Given the description of an element on the screen output the (x, y) to click on. 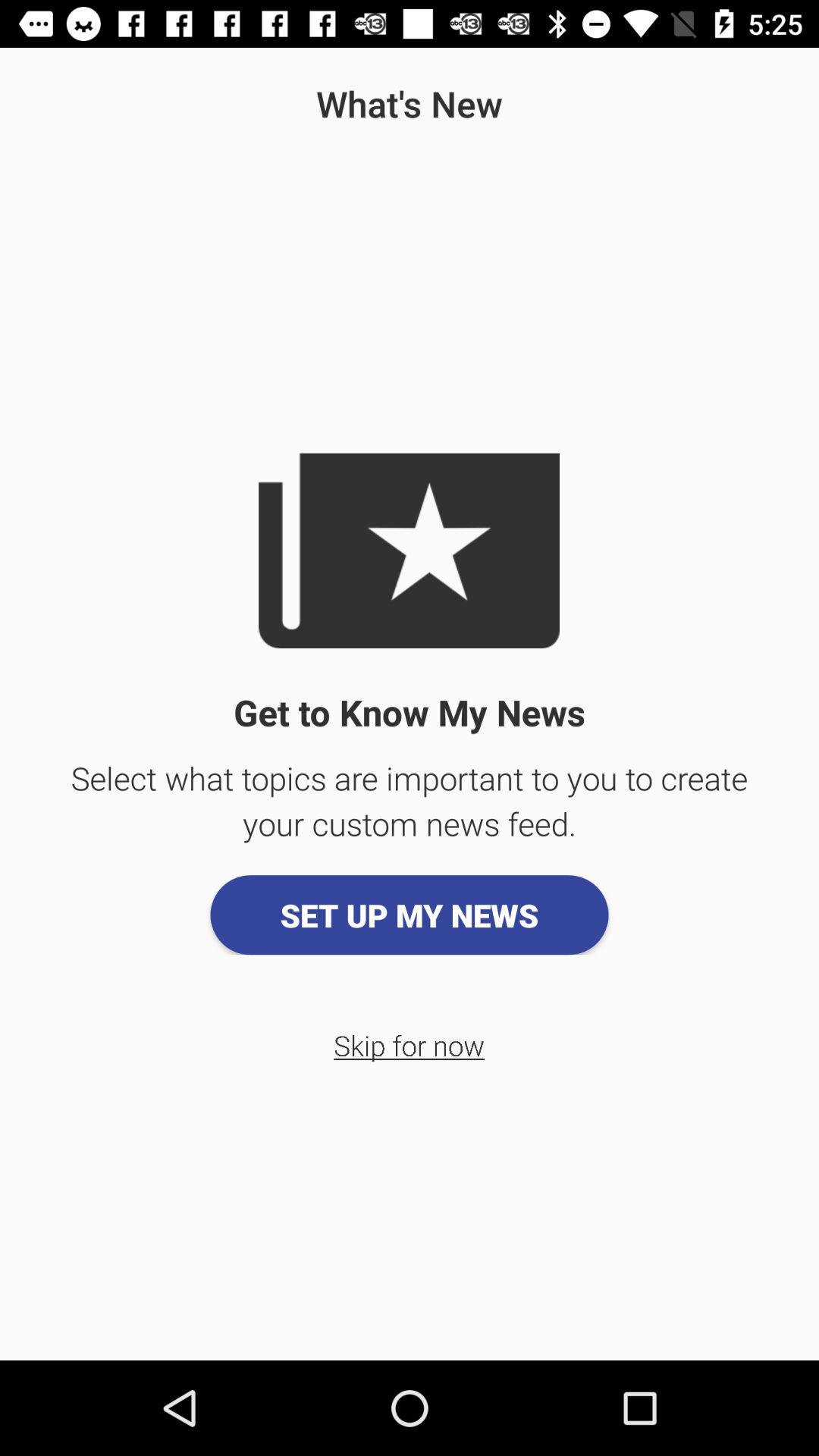
select the icon below set up my icon (409, 1044)
